Given the description of an element on the screen output the (x, y) to click on. 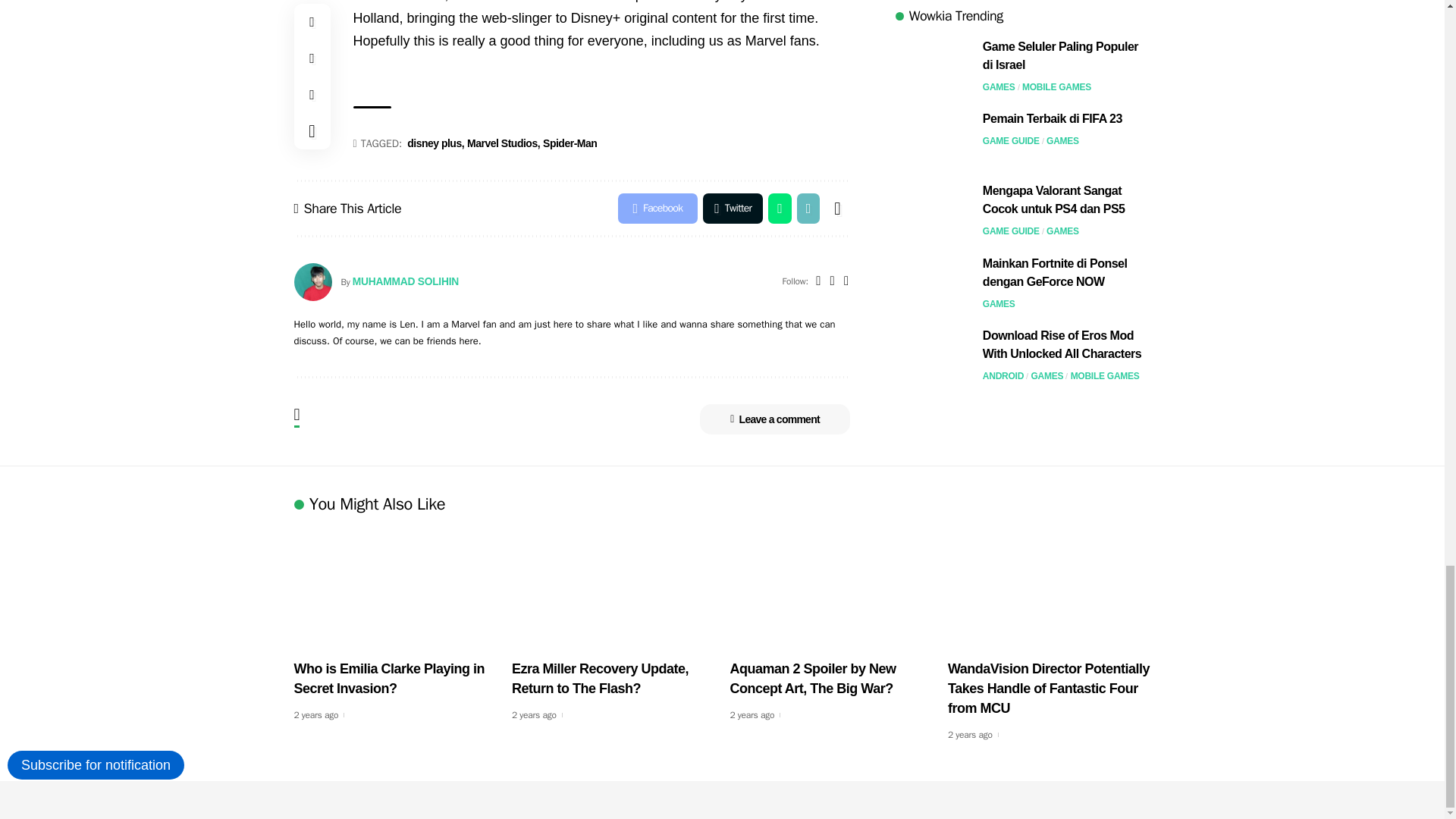
Aquaman 2 Spoiler by New Concept Art, The Big War? (831, 588)
Marvel Studios (503, 144)
Ezra Miller Recovery Update, Return to The Flash? (613, 588)
Who is Emilia Clarke Playing in Secret Invasion? (395, 588)
disney plus (435, 144)
